Given the description of an element on the screen output the (x, y) to click on. 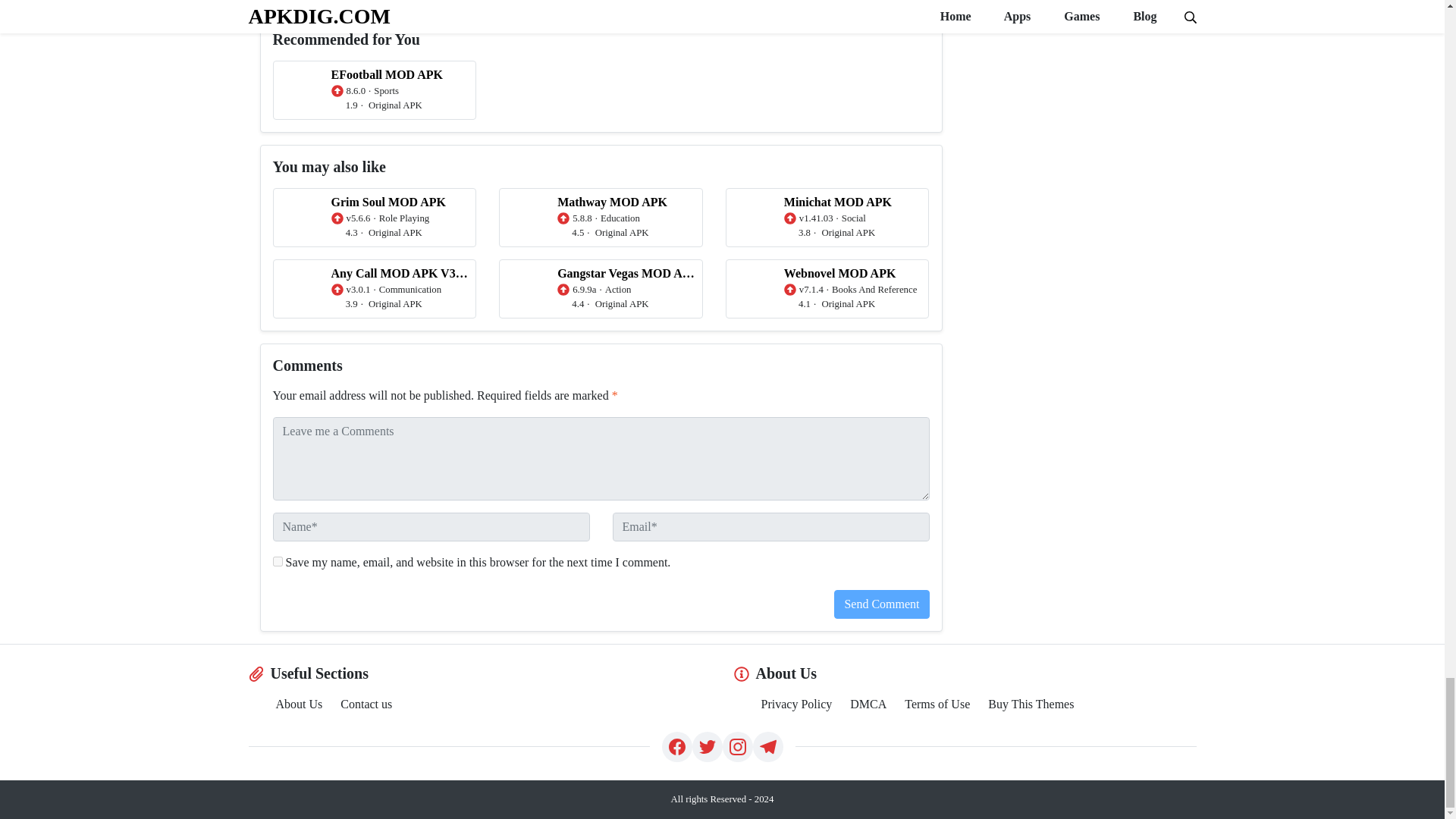
yes (277, 561)
Gangstar Vegas MOD APK (601, 288)
Send Comment (881, 604)
EFootball MOD APK (375, 89)
Webnovel MOD APK (827, 288)
Mathway MOD APK (601, 217)
Grim Soul MOD APK (375, 217)
Minichat MOD APK (827, 217)
